Given the description of an element on the screen output the (x, y) to click on. 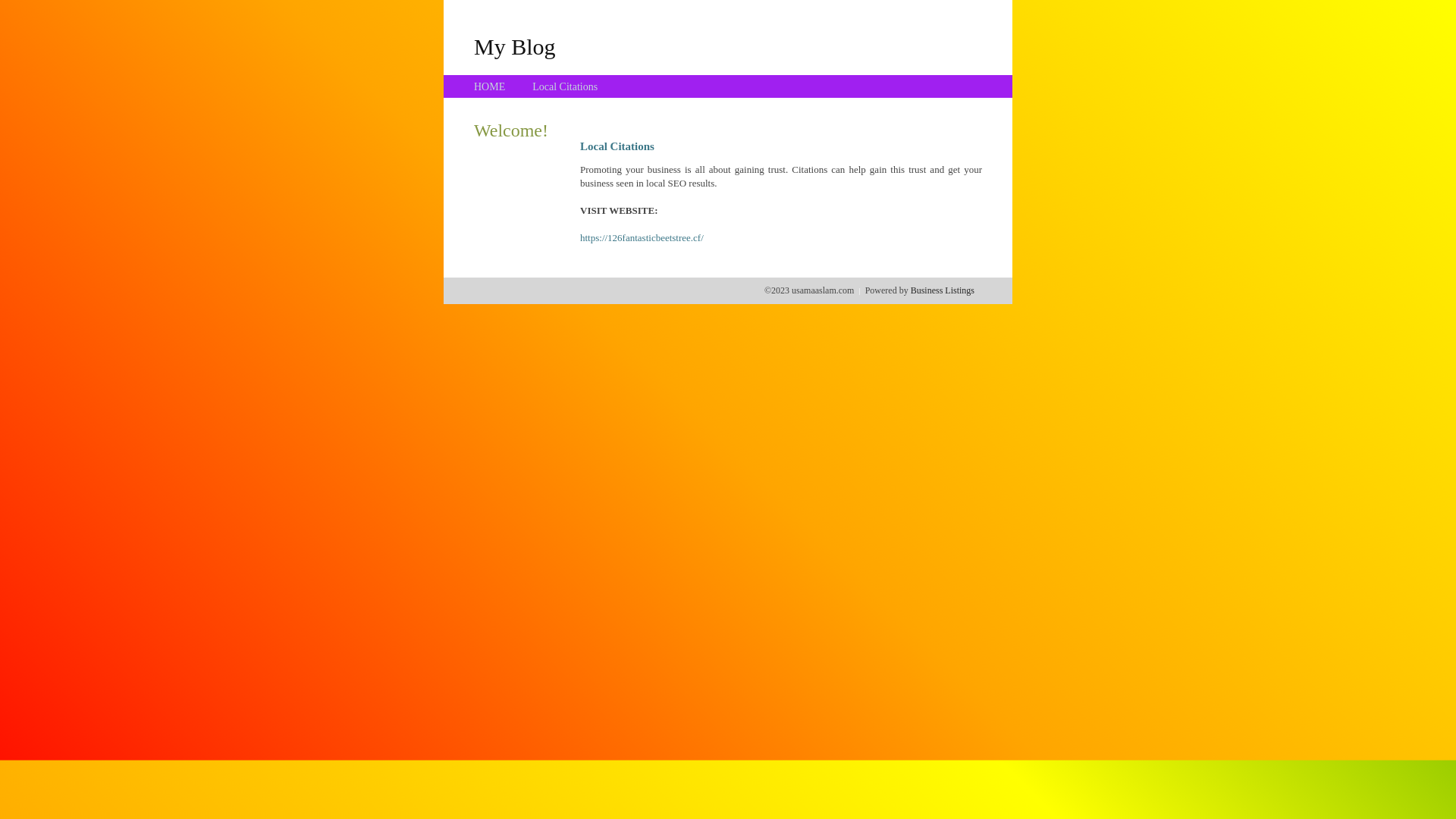
https://126fantasticbeetstree.cf/ Element type: text (641, 237)
Local Citations Element type: text (564, 86)
HOME Element type: text (489, 86)
My Blog Element type: text (514, 46)
Business Listings Element type: text (942, 290)
